Given the description of an element on the screen output the (x, y) to click on. 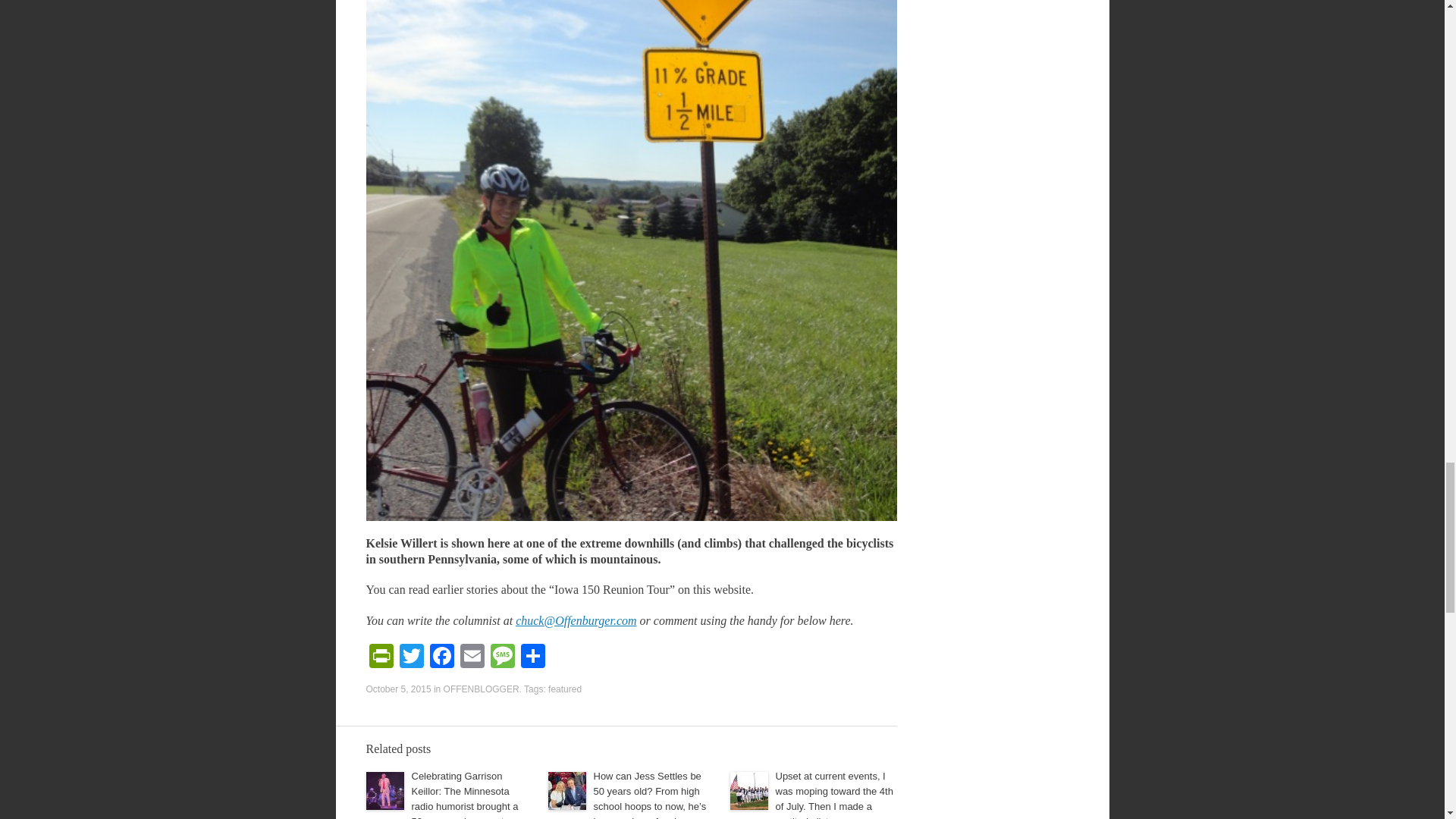
PrintFriendly (380, 657)
PrintFriendly (380, 657)
Facebook (441, 657)
Email (471, 657)
Share (531, 657)
October 5, 2015 (397, 688)
Facebook (441, 657)
Twitter (411, 657)
featured (564, 688)
Message (501, 657)
Twitter (411, 657)
Email (471, 657)
